Given the description of an element on the screen output the (x, y) to click on. 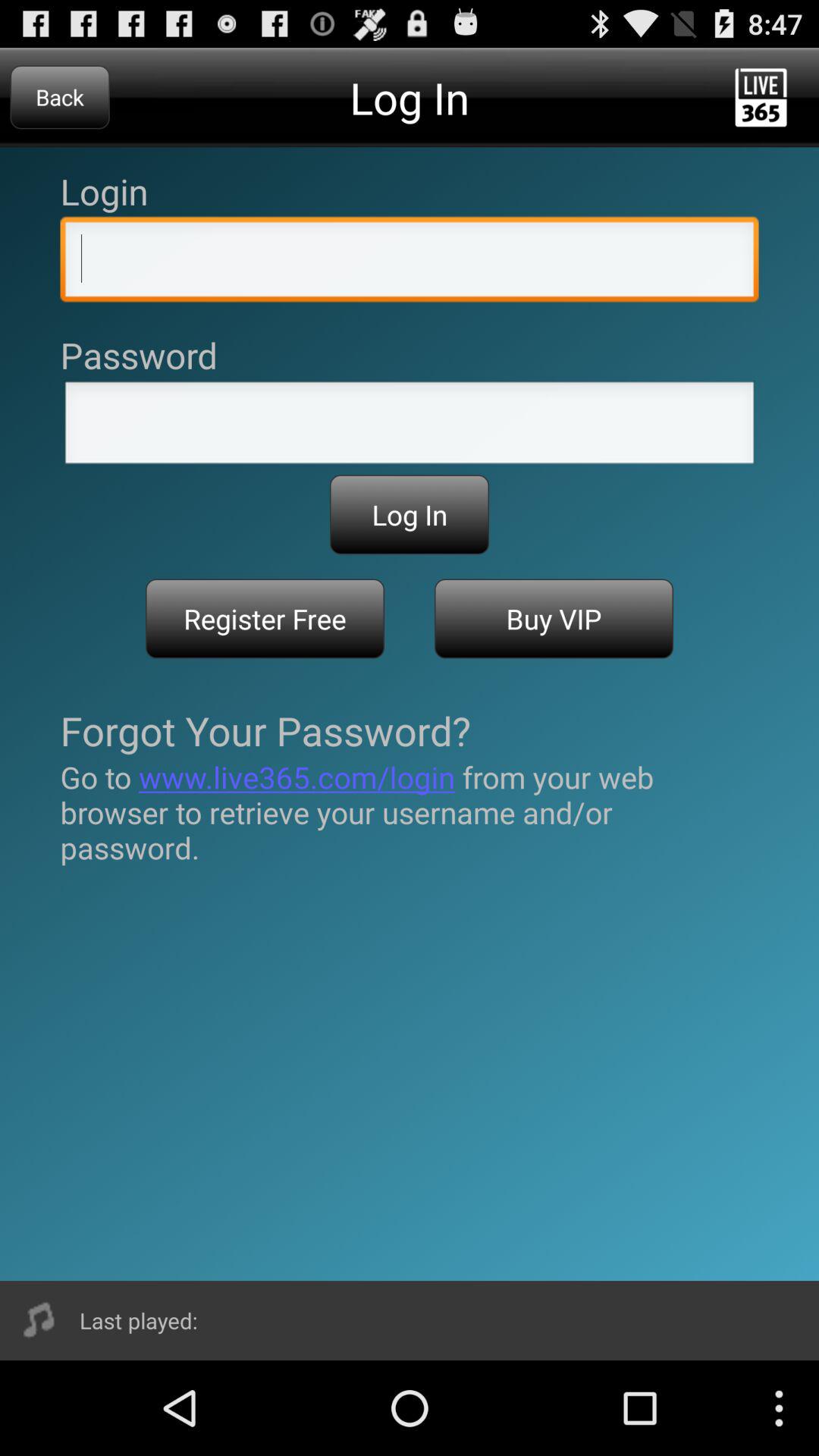
click icon at the top left corner (59, 97)
